Given the description of an element on the screen output the (x, y) to click on. 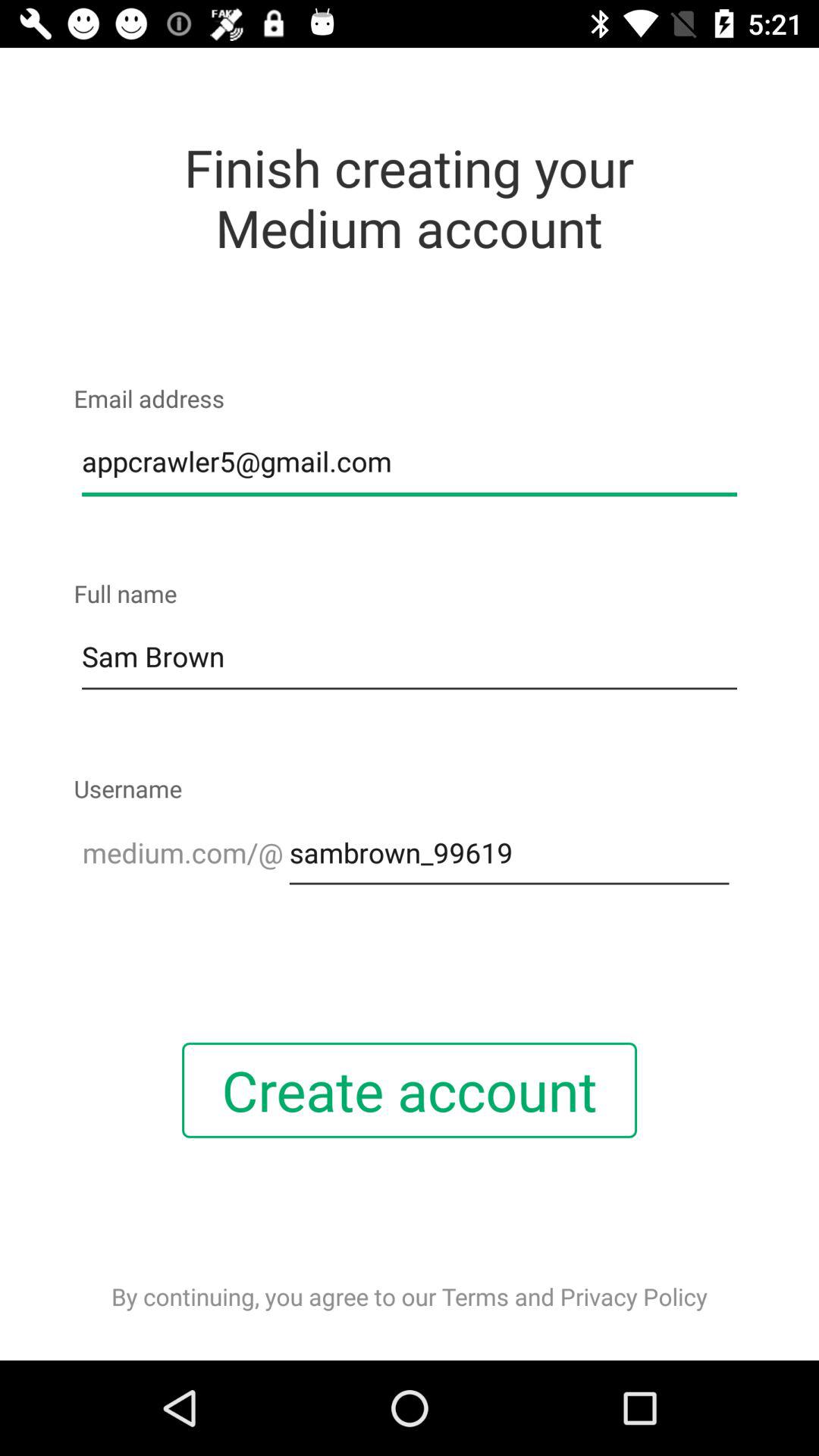
press sambrown_99619 (509, 852)
